Given the description of an element on the screen output the (x, y) to click on. 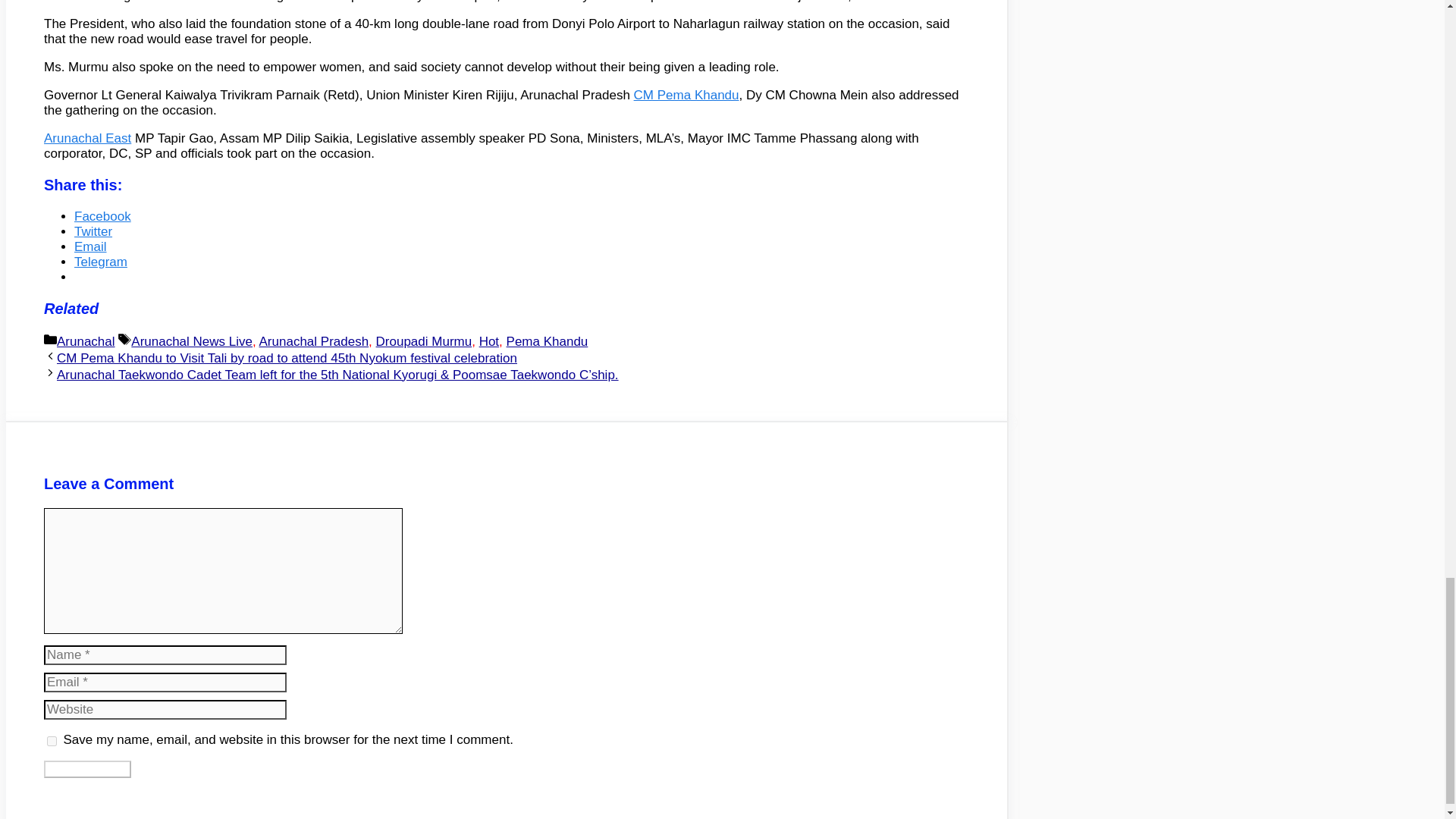
Droupadi Murmu (423, 341)
Hot (489, 341)
Arunachal East (87, 138)
yes (51, 741)
Pema Khandu (547, 341)
CM Pema Khandu (686, 94)
Arunachal News Live (191, 341)
Twitter (93, 231)
Post Comment (87, 769)
Facebook (102, 216)
